Given the description of an element on the screen output the (x, y) to click on. 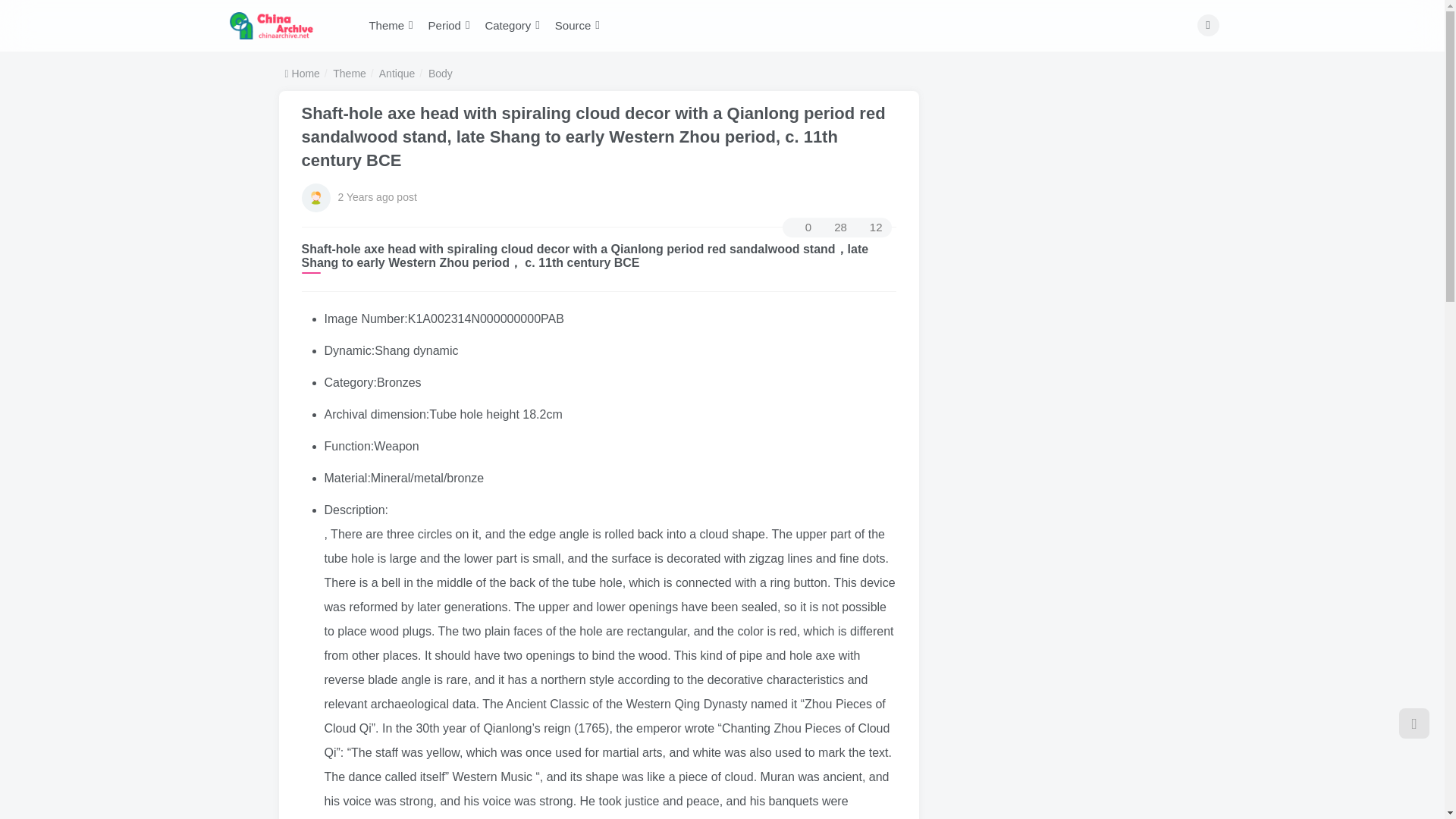
China Archive (271, 24)
Theme (390, 25)
Period (448, 25)
Category (512, 25)
